Given the description of an element on the screen output the (x, y) to click on. 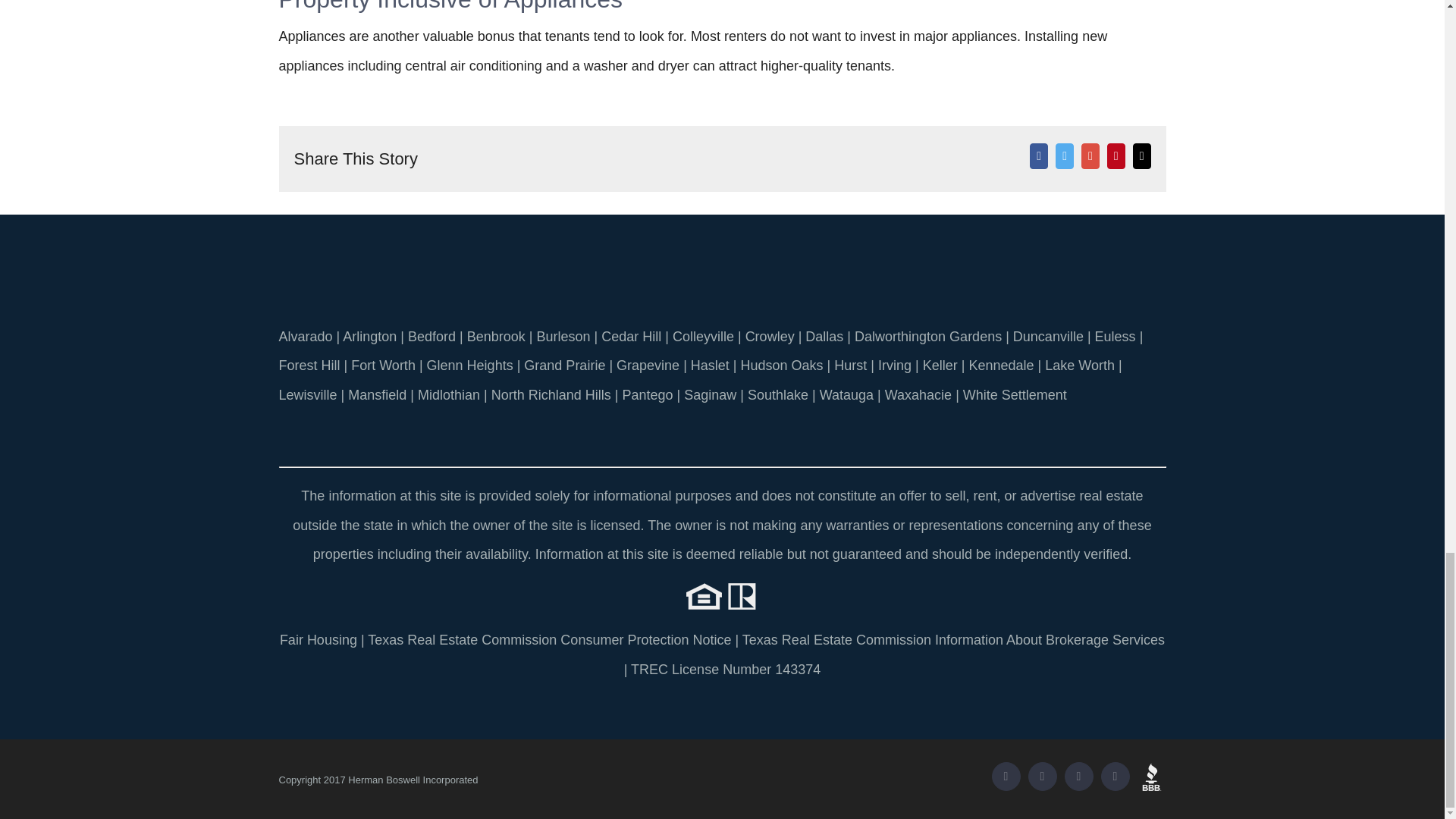
Alvarado (306, 336)
Bedford (431, 336)
Cedar Hill (631, 336)
Crowley (769, 336)
Colleyville (702, 336)
Burleson (562, 336)
Arlington (369, 336)
Benbrook (496, 336)
